Given the description of an element on the screen output the (x, y) to click on. 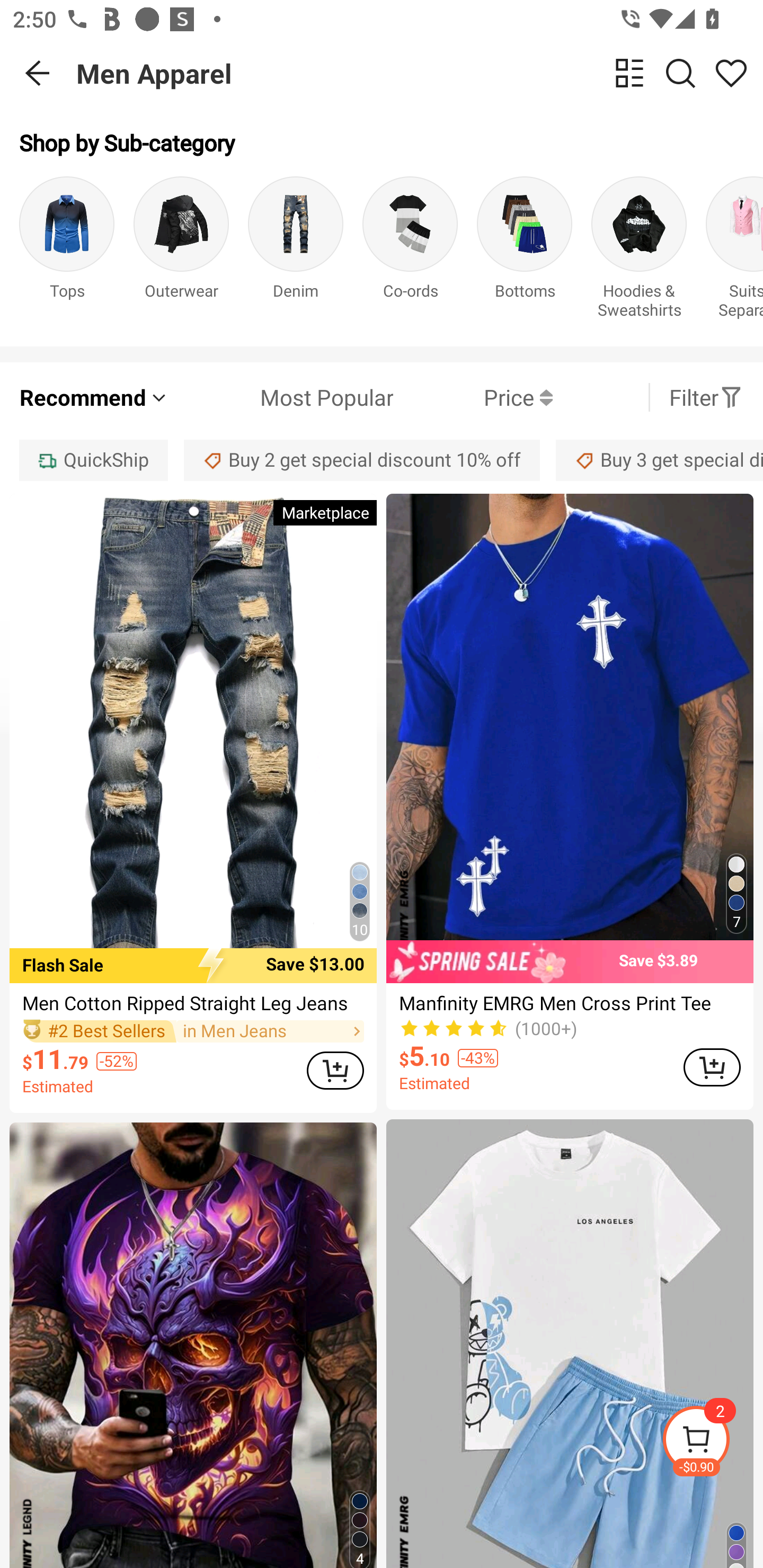
Men Apparel change view Search Share (419, 72)
change view (629, 72)
Search (679, 72)
Share (730, 72)
Tops (66, 251)
Outerwear (180, 251)
Denim (295, 251)
Co-ords (409, 251)
Bottoms (524, 251)
Hoodies & Sweatshirts (638, 251)
Recommend (94, 397)
Most Popular (280, 397)
Price (472, 397)
Filter (705, 397)
QuickShip (93, 460)
Buy 2 get special discount 10% off (361, 460)
#2 Best Sellers in Men Jeans (192, 1031)
ADD TO CART (711, 1067)
ADD TO CART (334, 1070)
-$0.90 (712, 1441)
